Given the description of an element on the screen output the (x, y) to click on. 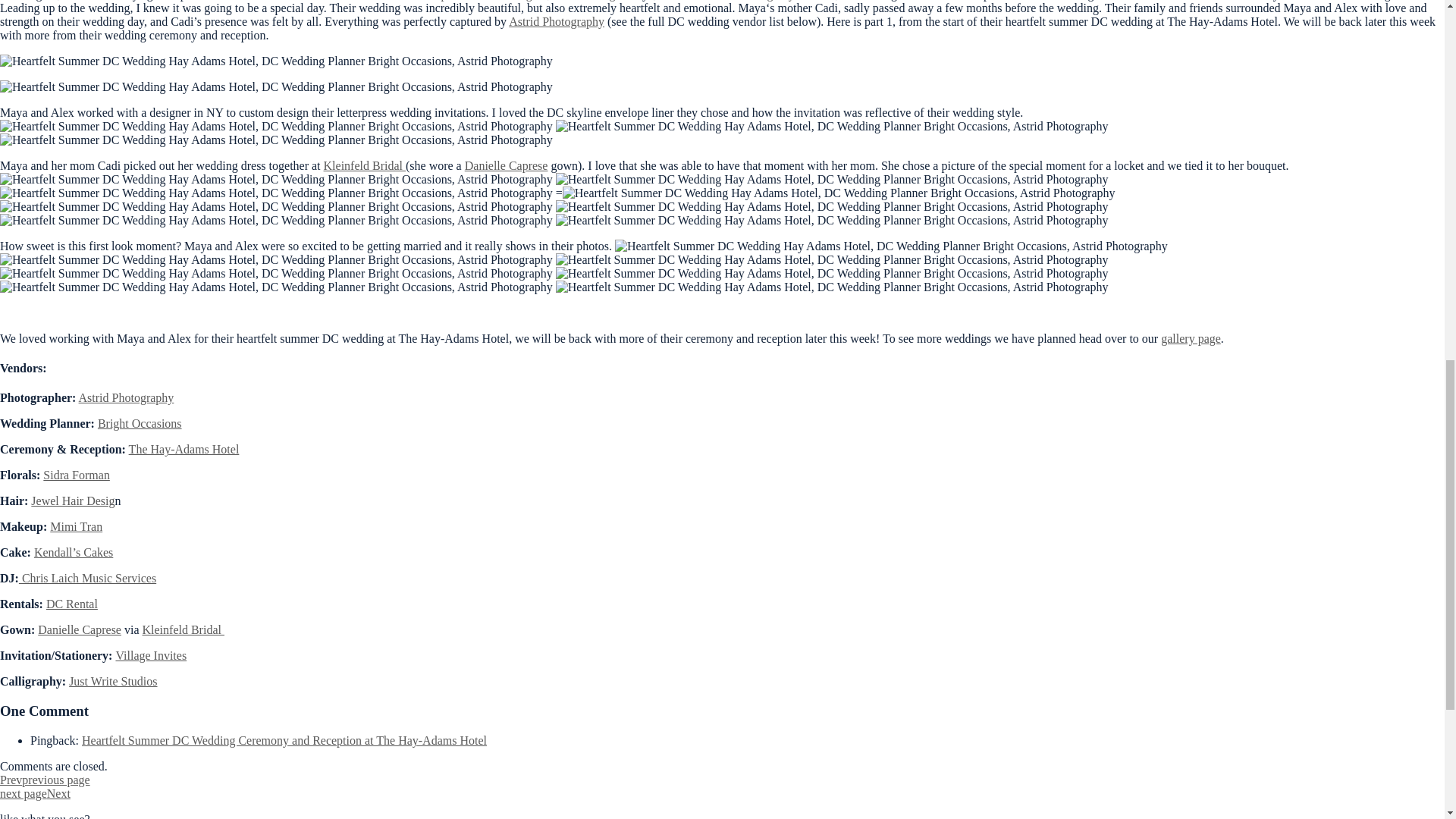
Astrid Photography (556, 21)
Zola Registry (761, 0)
